Given the description of an element on the screen output the (x, y) to click on. 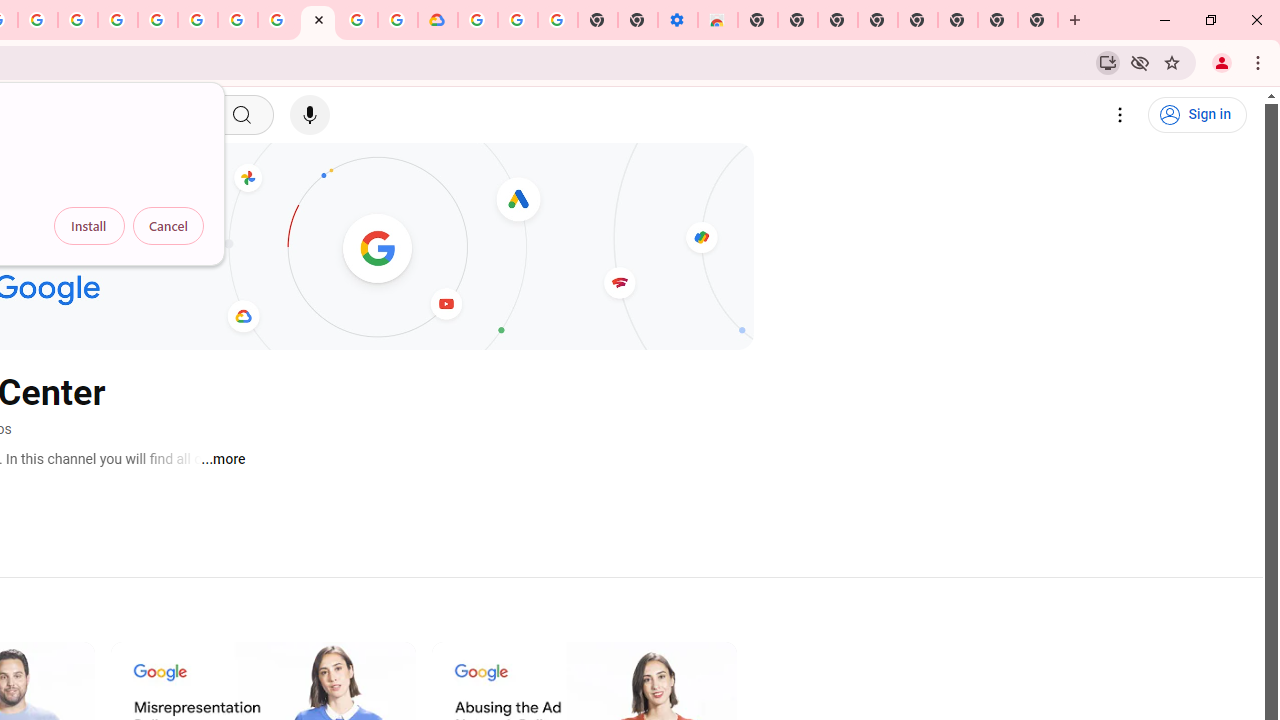
Sign in - Google Accounts (477, 20)
Cancel (168, 225)
New Tab (758, 20)
Install (89, 225)
Turn cookies on or off - Computer - Google Account Help (557, 20)
Google Account Help (237, 20)
Google Transparency Center - YouTube (317, 20)
